Given the description of an element on the screen output the (x, y) to click on. 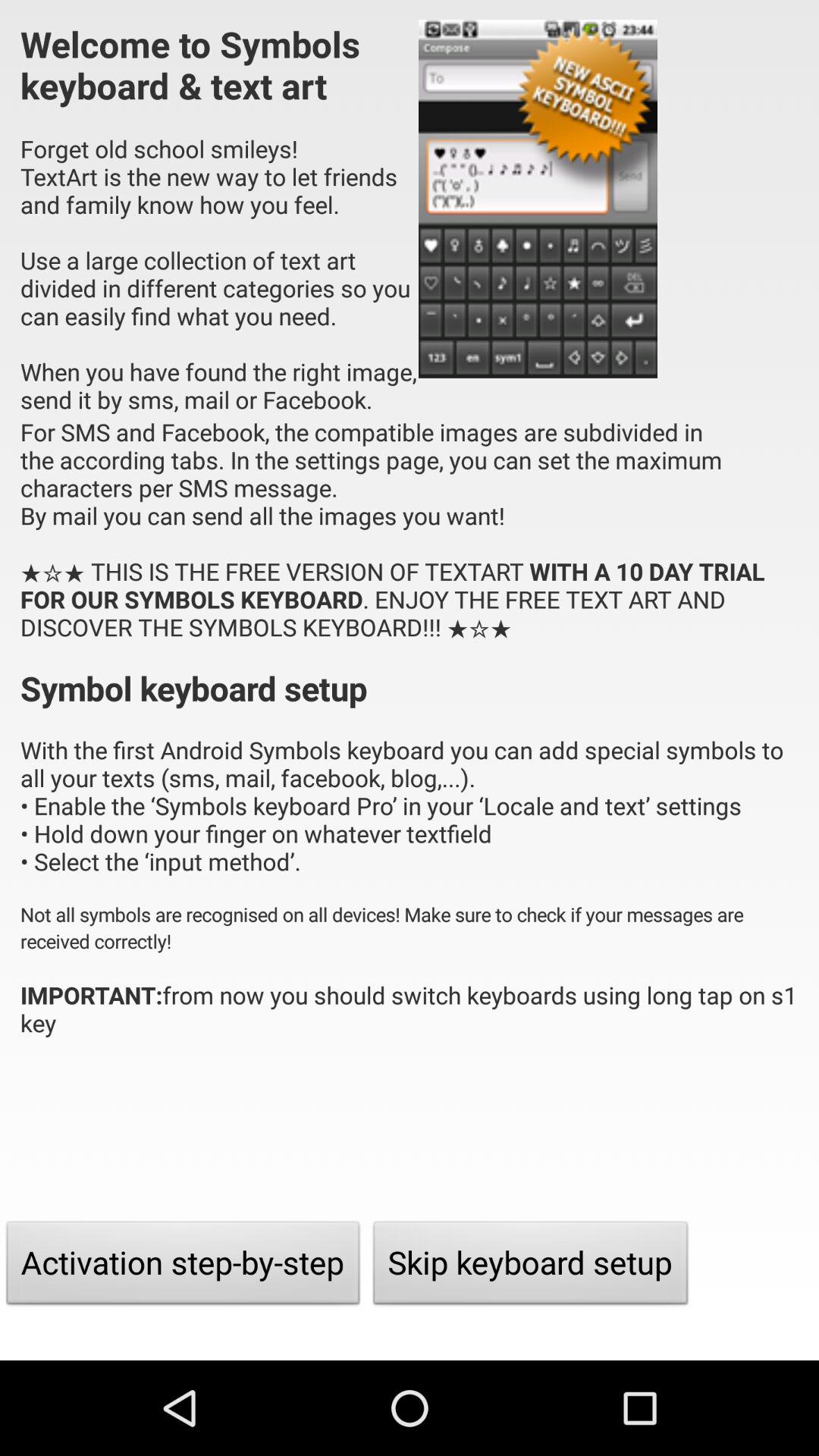
click the icon to the right of activation step by button (530, 1266)
